Given the description of an element on the screen output the (x, y) to click on. 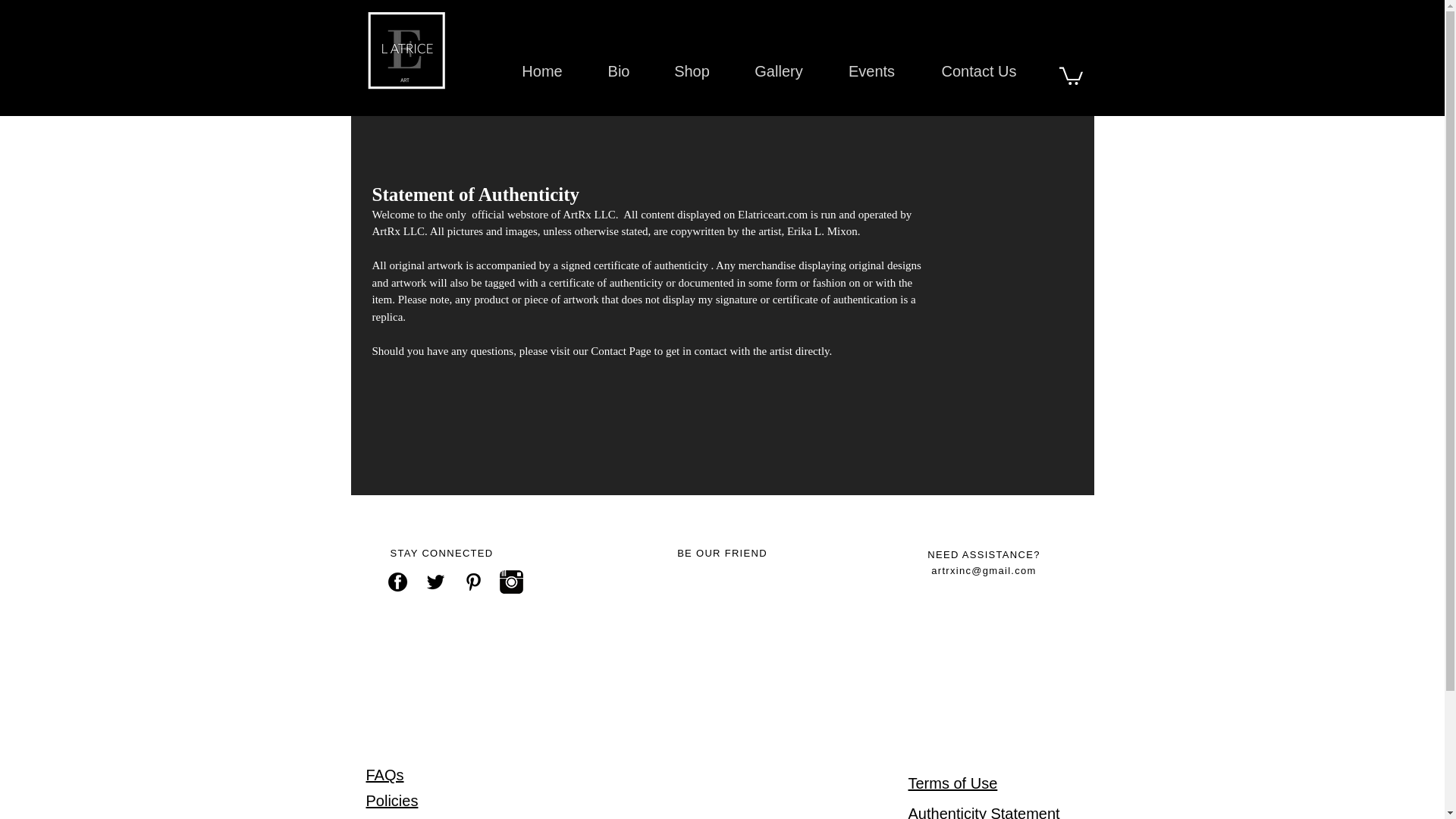
Contact Us (978, 70)
Events (871, 70)
FAQs (384, 774)
Terms of Use (952, 782)
Gallery (778, 70)
Bio (617, 70)
Policies (391, 800)
Home (542, 70)
ART LOGO WHITE-TM.png (405, 50)
Authenticity Statement (983, 812)
